Given the description of an element on the screen output the (x, y) to click on. 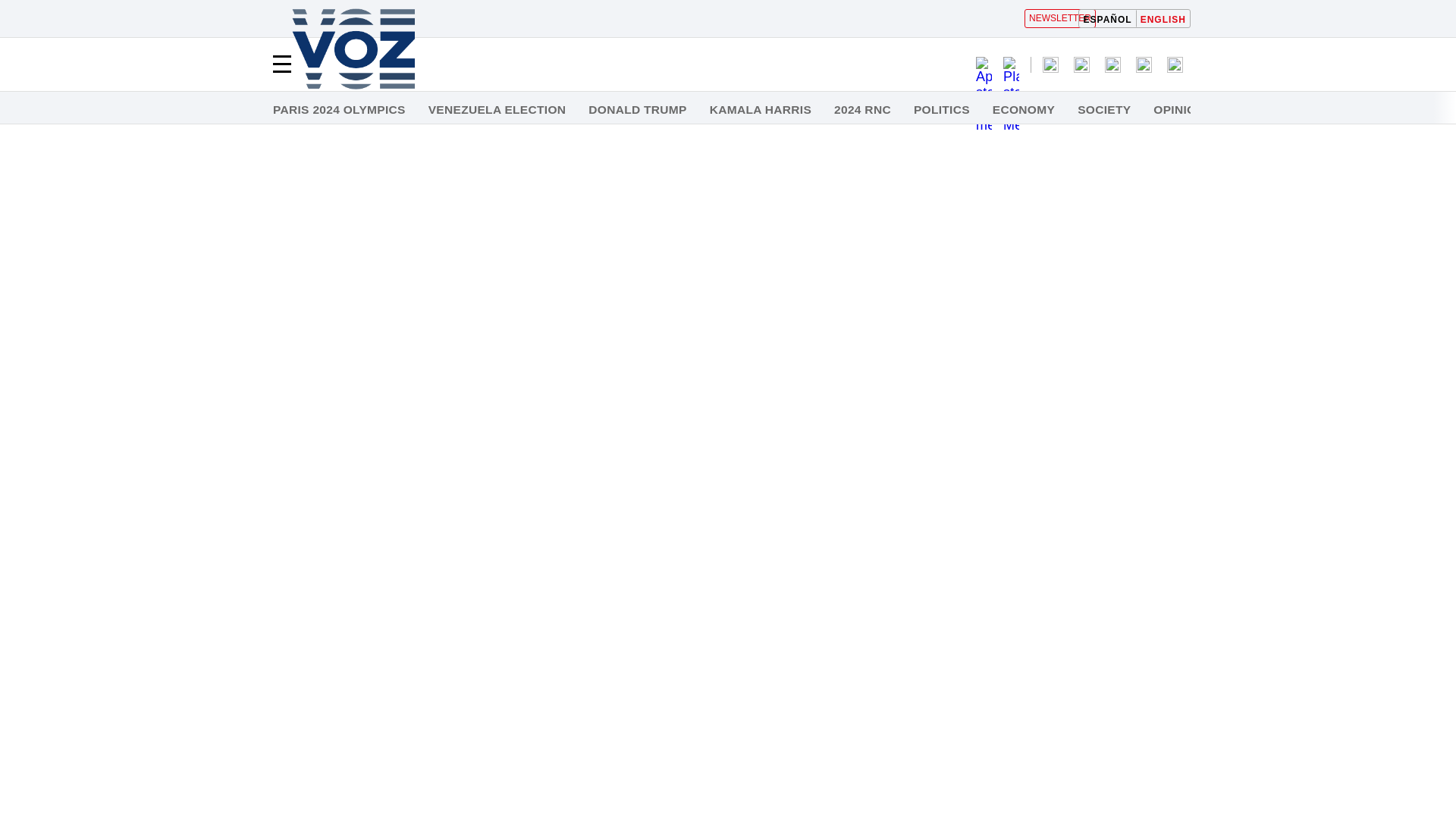
SPORTS (1320, 110)
ENGLISH (1163, 18)
Donald Trump (636, 110)
World (1249, 110)
2024 RNC (862, 110)
Voz.us (353, 50)
Society (1104, 110)
PARIS 2024 OLYMPICS (339, 110)
2024 RNC (862, 110)
KAMALA HARRIS (760, 110)
VENEZUELA ELECTION (497, 110)
Venezuela election (497, 110)
POLITICS (941, 110)
OPINION (1179, 110)
WORLD (1249, 110)
